Given the description of an element on the screen output the (x, y) to click on. 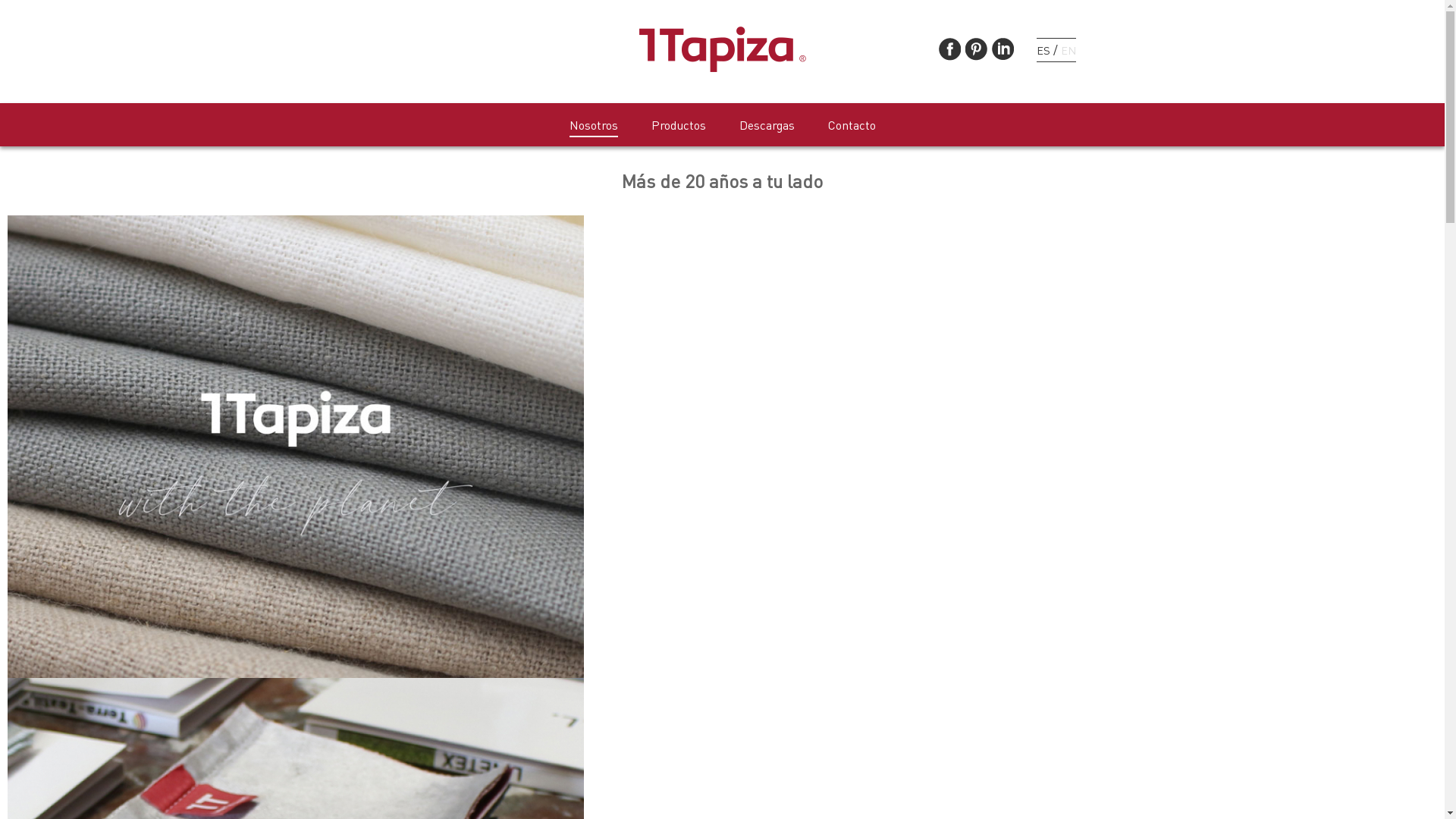
Pinterest Element type: text (976, 48)
Nosotros Element type: text (592, 126)
Instagram Element type: text (1002, 48)
ES Element type: text (1043, 49)
Productos Element type: text (677, 125)
Facebook Element type: text (949, 48)
EN Element type: text (1068, 49)
Descargas Element type: text (765, 125)
Contacto Element type: text (851, 125)
